Given the description of an element on the screen output the (x, y) to click on. 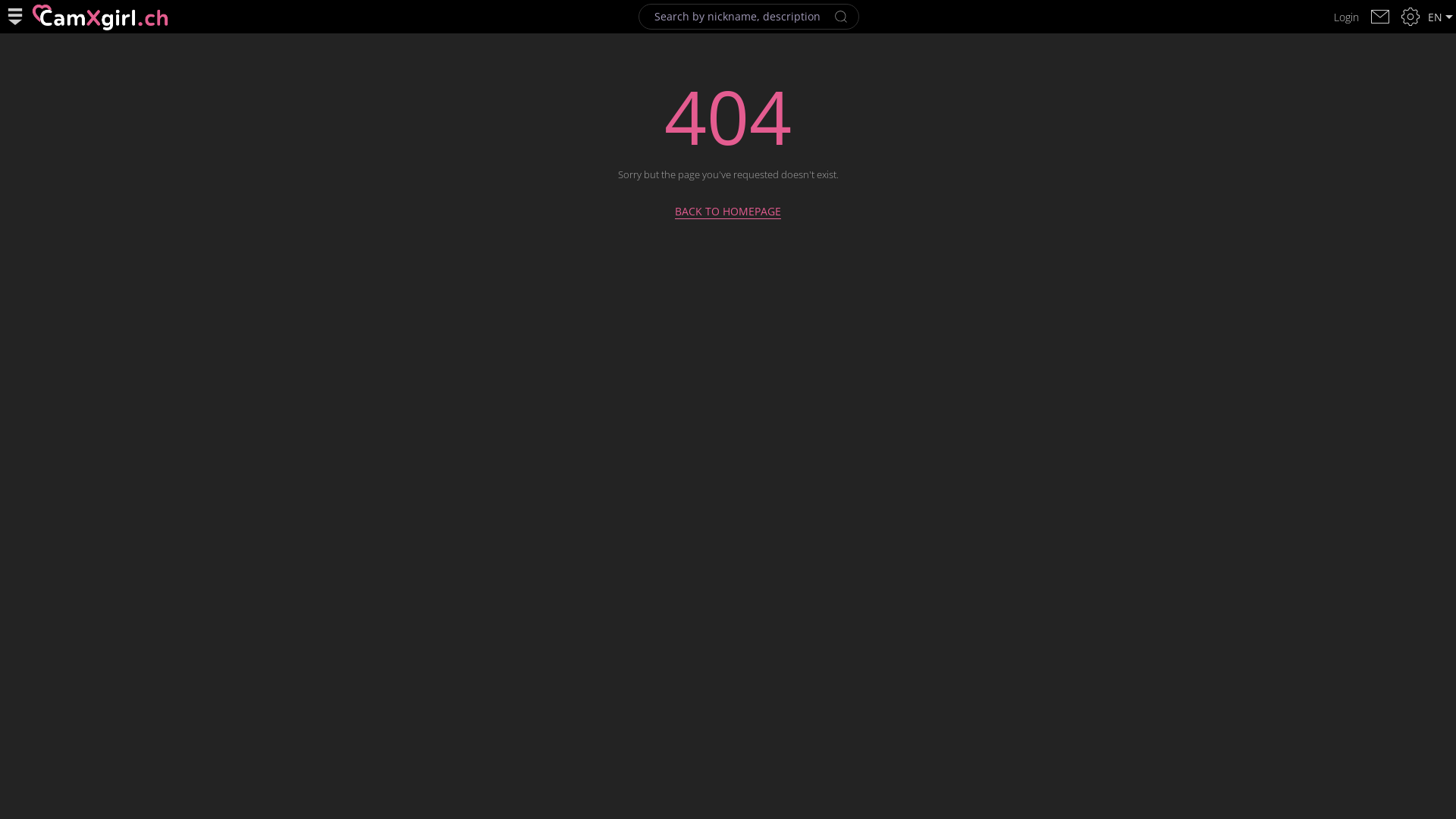
BACK TO HOMEPAGE Element type: text (727, 205)
Login Element type: text (1345, 16)
See all girls Element type: hover (99, 16)
